Given the description of an element on the screen output the (x, y) to click on. 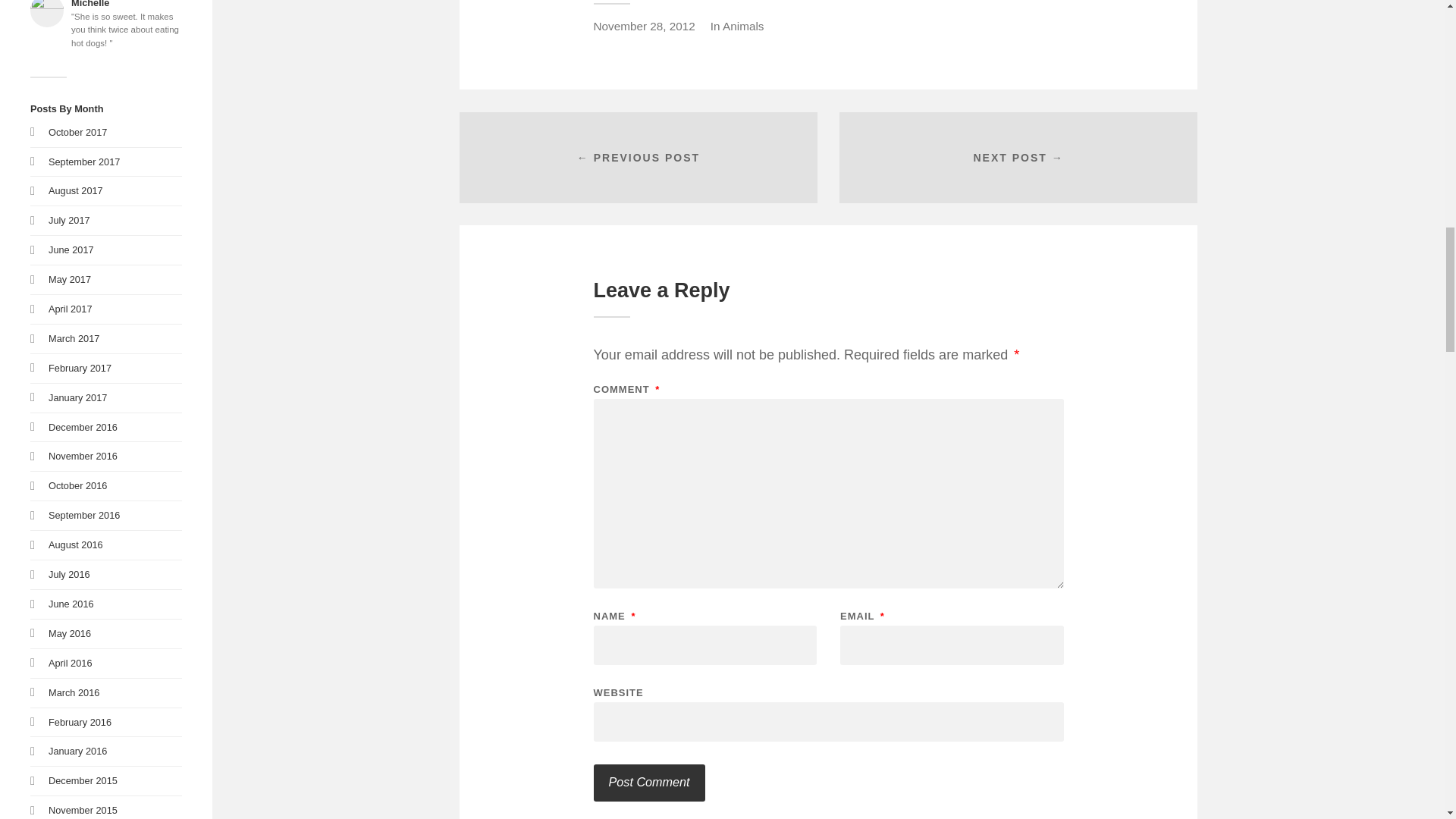
June 2017 (71, 249)
July 2017 (69, 220)
Post Comment (648, 782)
August 2017 (75, 190)
October 2017 (77, 132)
April 2017 (69, 308)
May 2017 (69, 279)
September 2017 (83, 161)
March 2017 (73, 337)
